Given the description of an element on the screen output the (x, y) to click on. 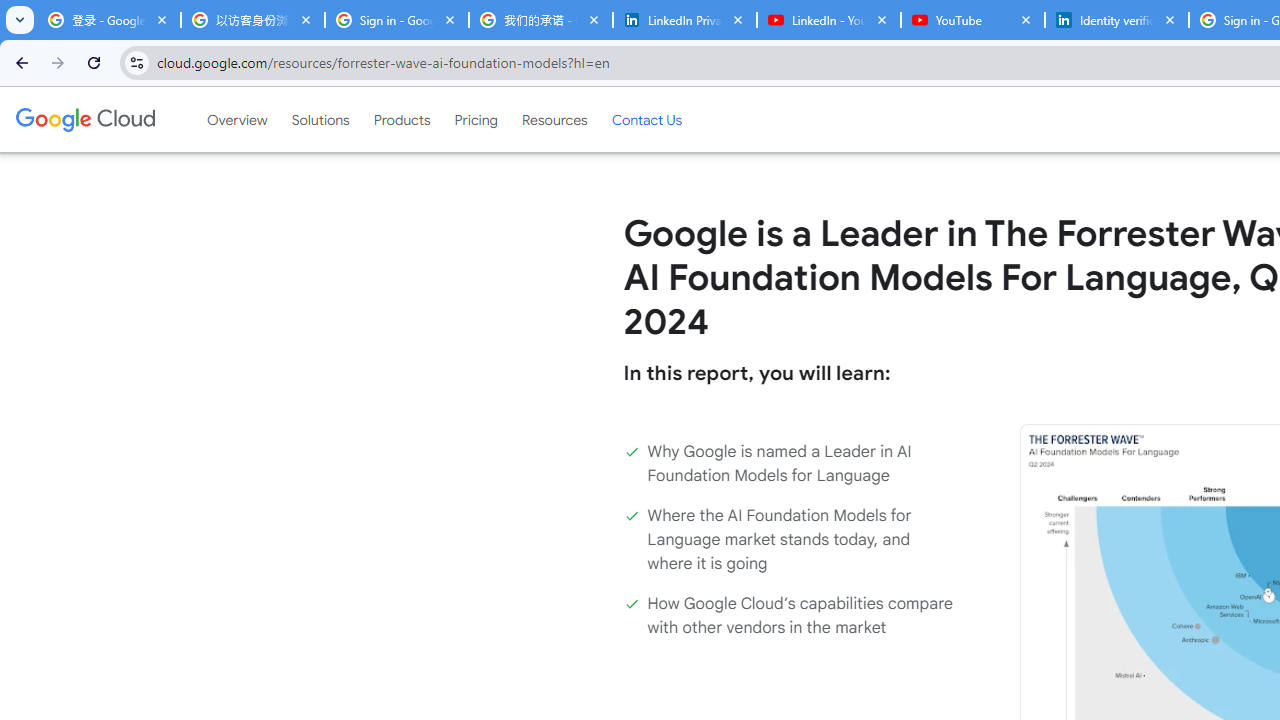
Solutions (320, 119)
Google Cloud (84, 119)
YouTube (972, 20)
